Given the description of an element on the screen output the (x, y) to click on. 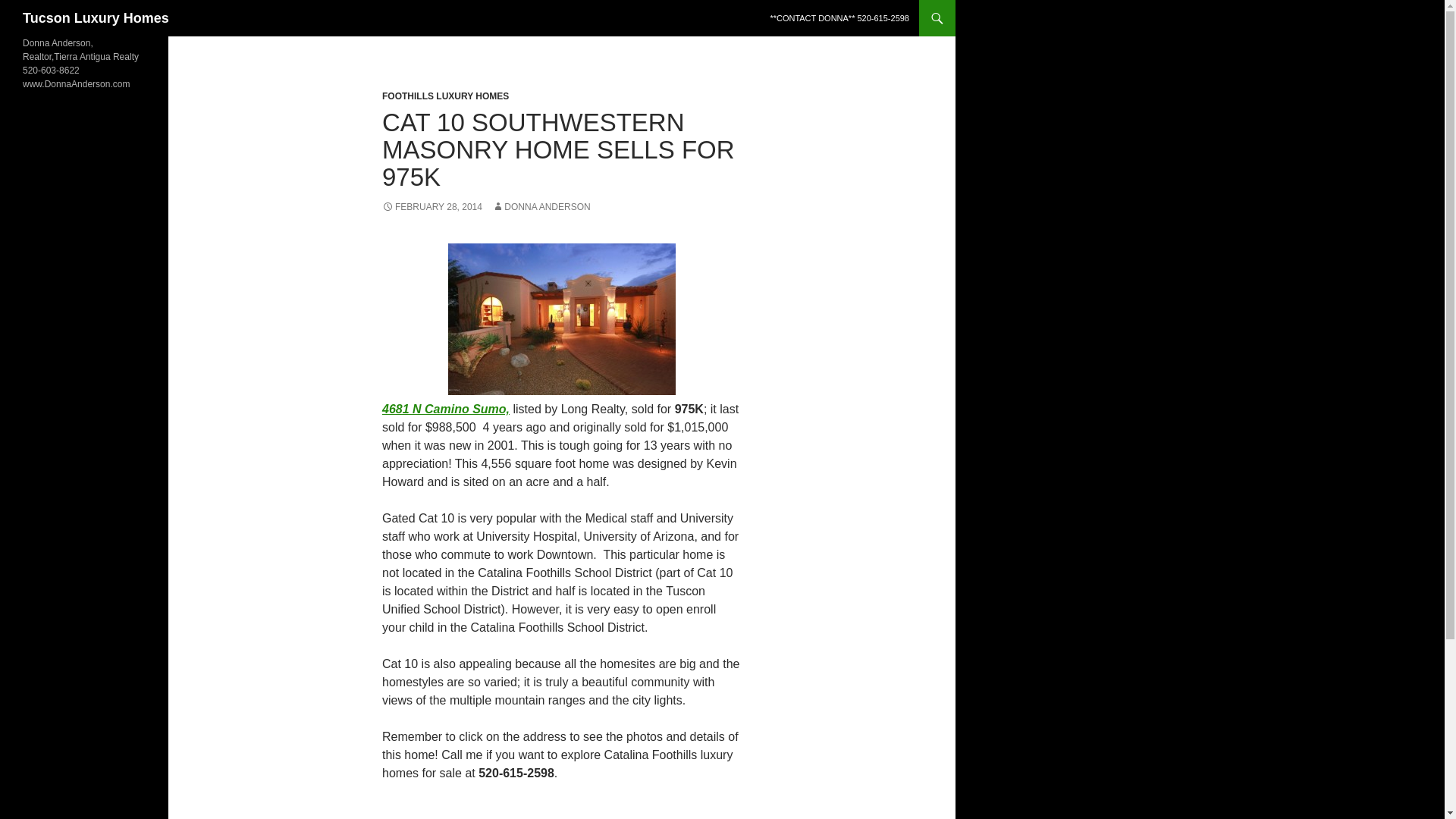
4681 N Camino Sumo, (445, 408)
Tucson Luxury Homes (95, 18)
FEBRUARY 28, 2014 (431, 206)
DONNA ANDERSON (540, 206)
FOOTHILLS LUXURY HOMES (444, 95)
